Given the description of an element on the screen output the (x, y) to click on. 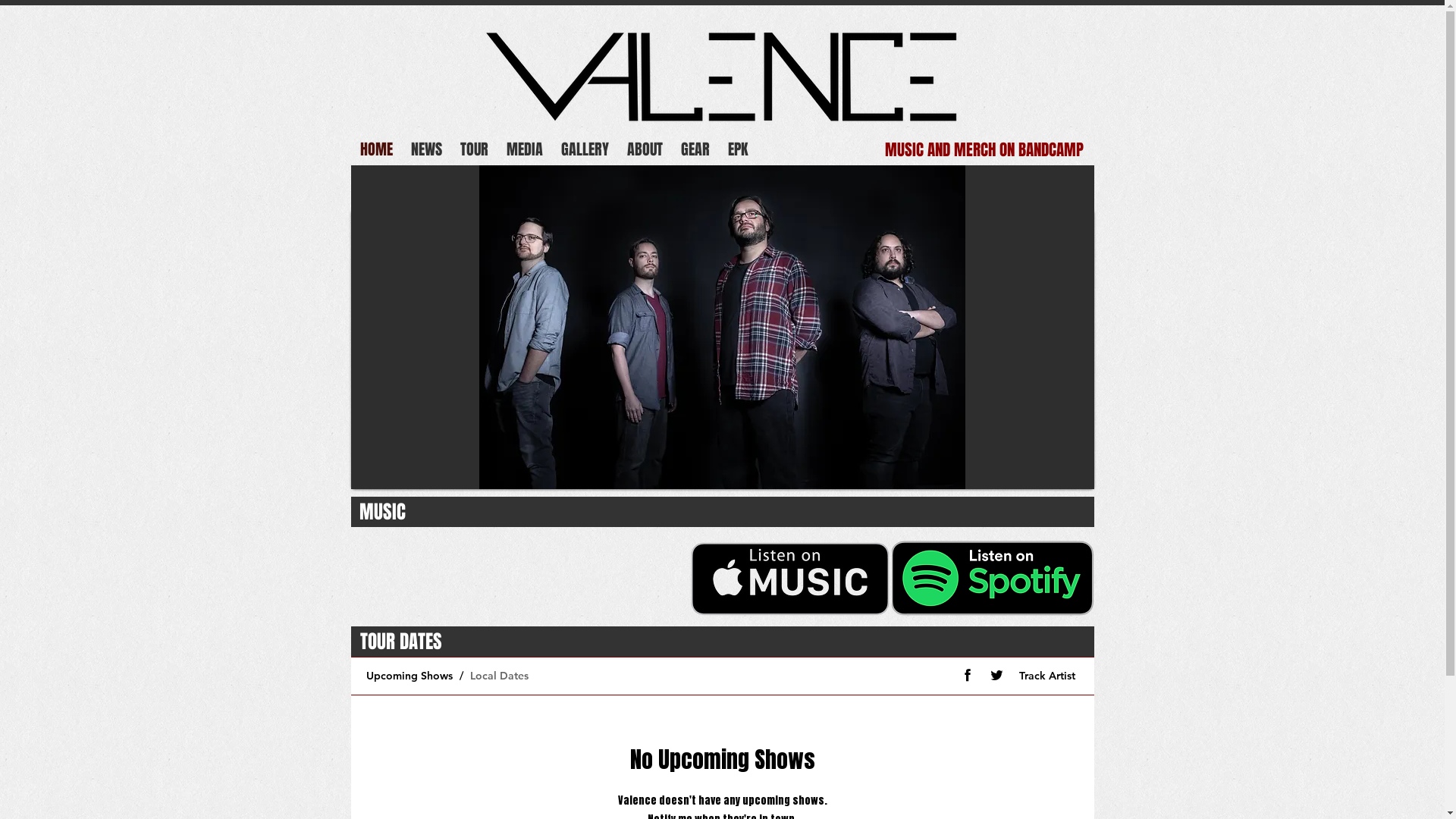
MUSIC AND MERCH ON BANDCAMP Element type: text (983, 149)
EPK Element type: text (737, 149)
GALLERY Element type: text (585, 149)
NEWS Element type: text (426, 149)
TOUR Element type: text (473, 149)
listen-on-spotify-logo-e1559923925877.pn Element type: hover (992, 577)
GEAR Element type: text (694, 149)
Embedded Content Element type: hover (516, 574)
7-76763_get-it-on-google-play-listen-on- Element type: hover (789, 574)
MEDIA Element type: text (524, 149)
ABOUT Element type: text (644, 149)
HOME Element type: text (375, 149)
